Given the description of an element on the screen output the (x, y) to click on. 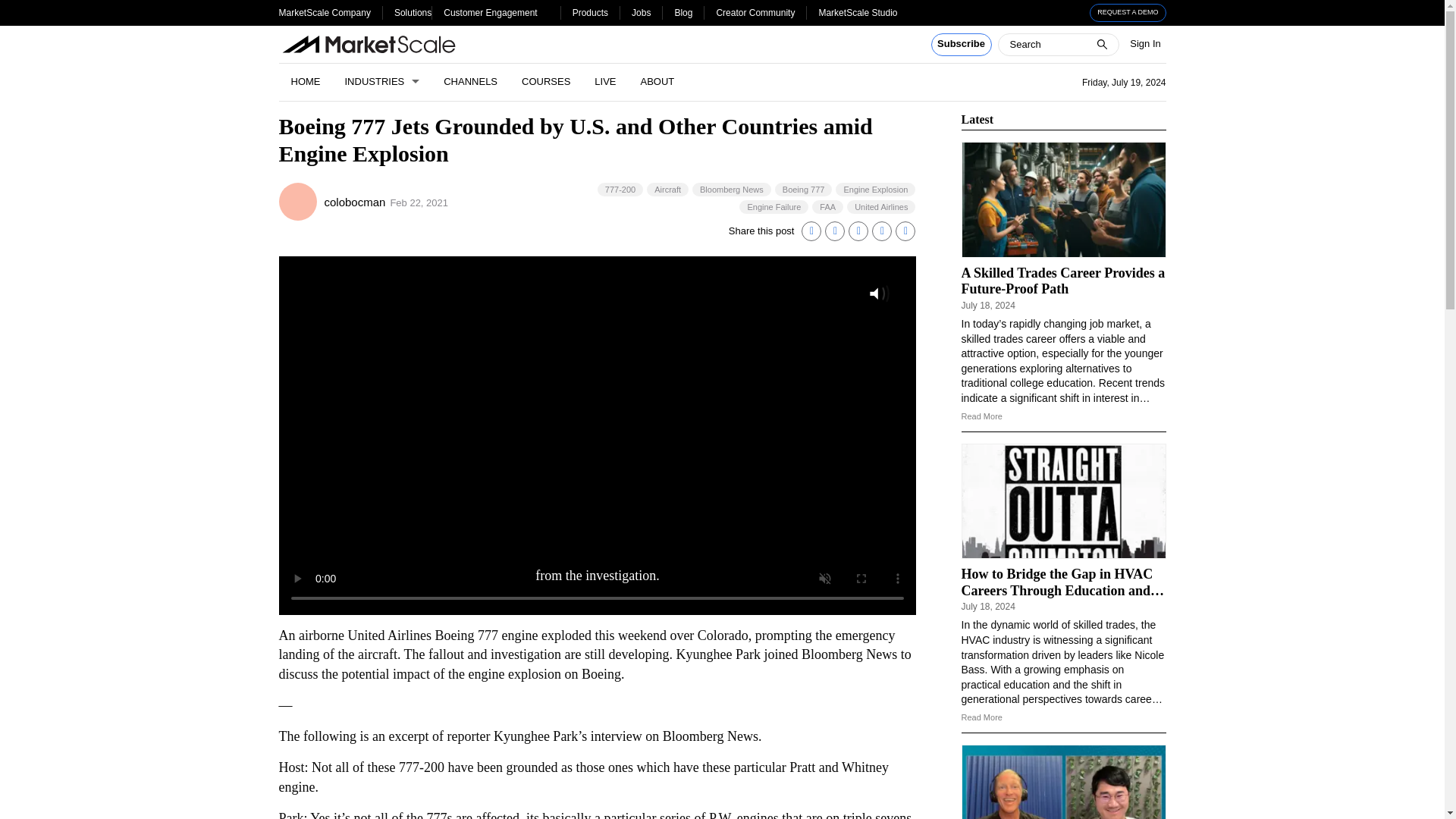
colobocman (354, 201)
Search (21, 7)
Subscribe (961, 44)
colobocman (298, 201)
Copy Link (905, 230)
Share on Facebook (857, 230)
Customer Engagement (490, 12)
Share on Linkedin (811, 230)
Share on X (834, 230)
Jobs (640, 12)
Products (590, 12)
REQUEST A DEMO (1127, 13)
Solutions (412, 12)
Blog (683, 12)
Share on Email (881, 230)
